Given the description of an element on the screen output the (x, y) to click on. 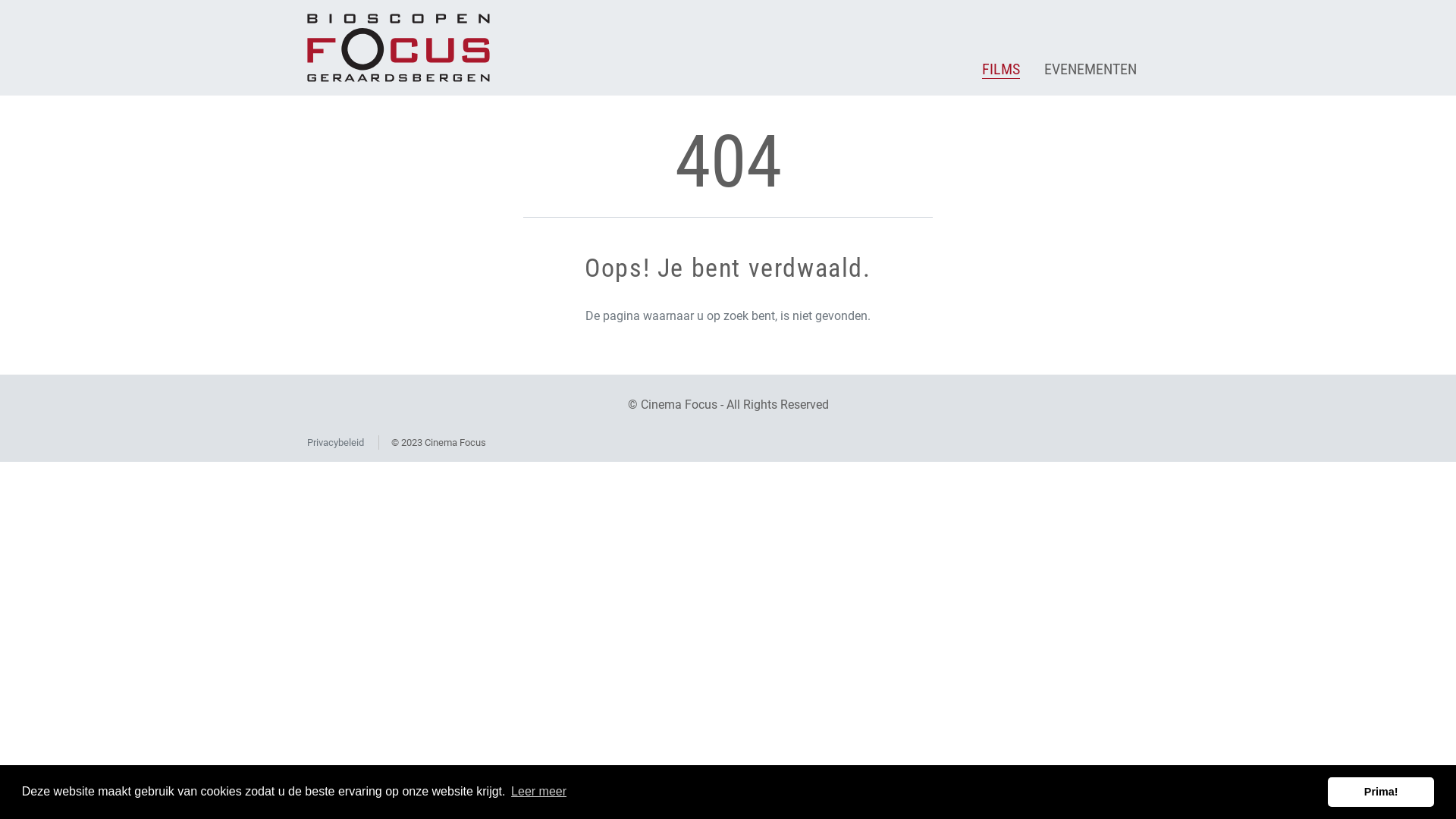
Prima! Element type: text (1380, 791)
Privacybeleid Element type: text (335, 442)
FILMS Element type: text (1000, 68)
EVENEMENTEN Element type: text (1090, 68)
Leer meer Element type: text (538, 791)
